Given the description of an element on the screen output the (x, y) to click on. 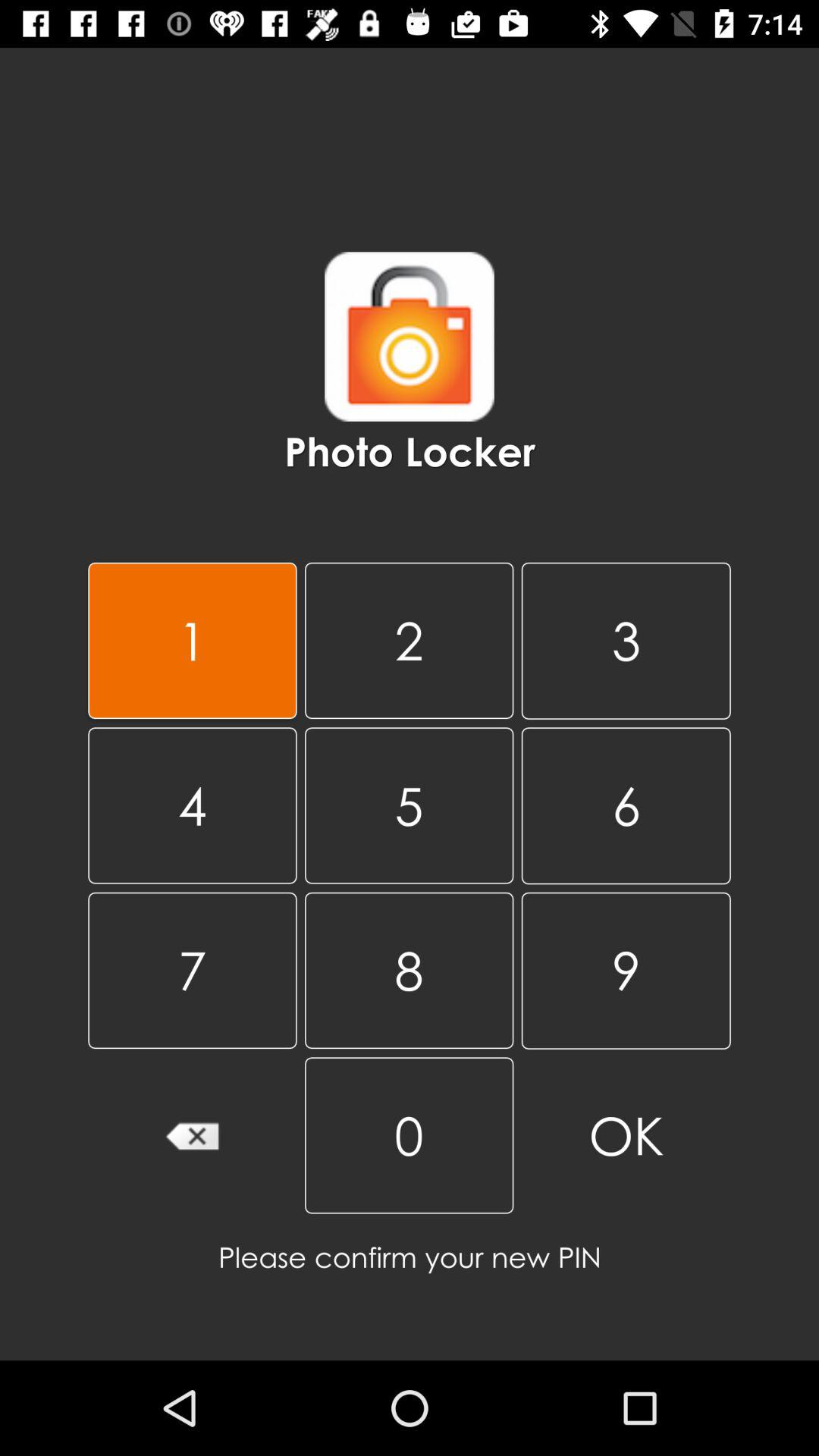
turn on the item next to the 8 item (192, 1135)
